Given the description of an element on the screen output the (x, y) to click on. 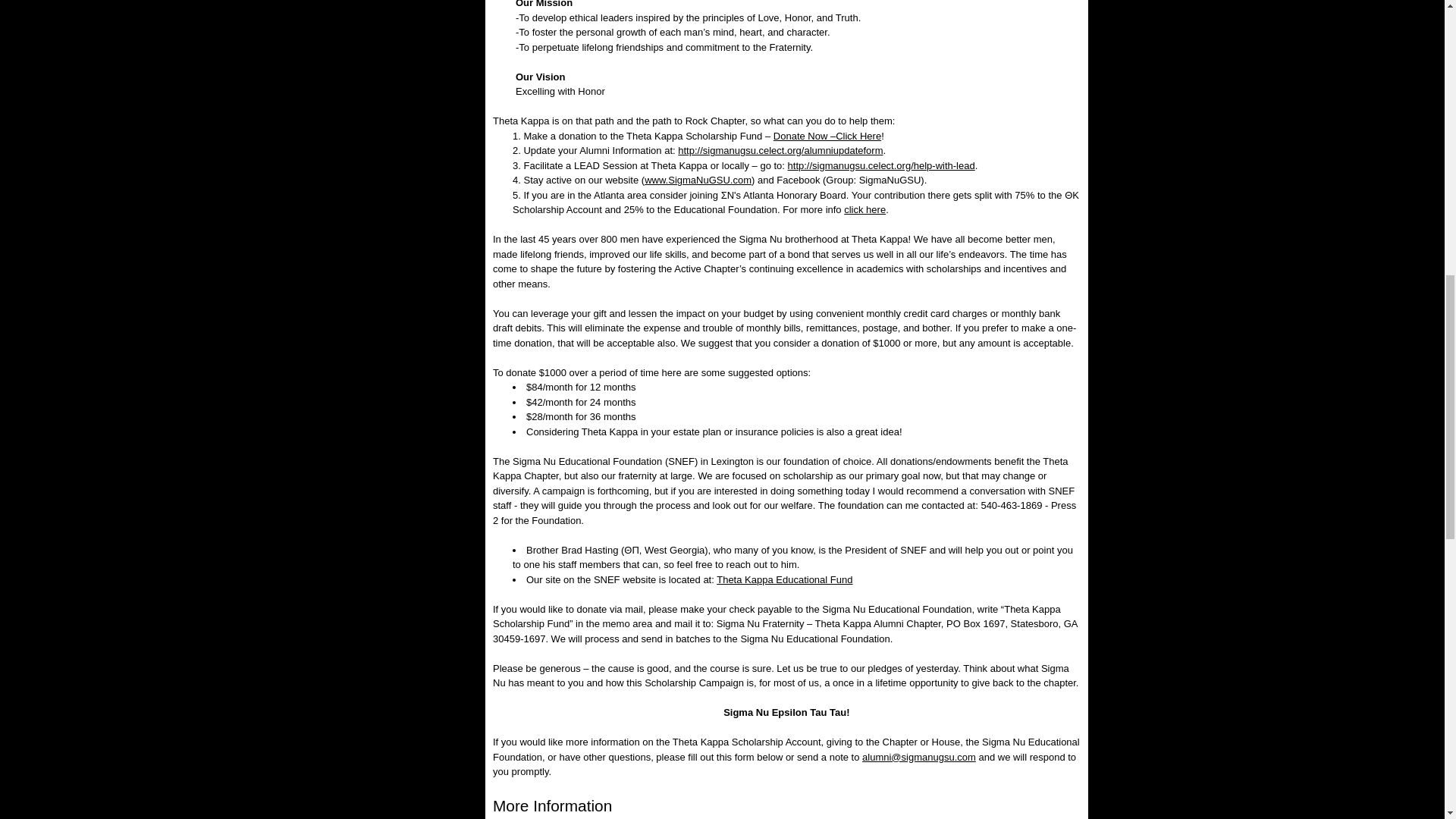
Sigma Nu's Atlanta Honorary Board (864, 209)
Report Hazing (420, 0)
Theta Kappa Educational Fund (783, 578)
www.SigmaNuGSU.com (698, 179)
